Given the description of an element on the screen output the (x, y) to click on. 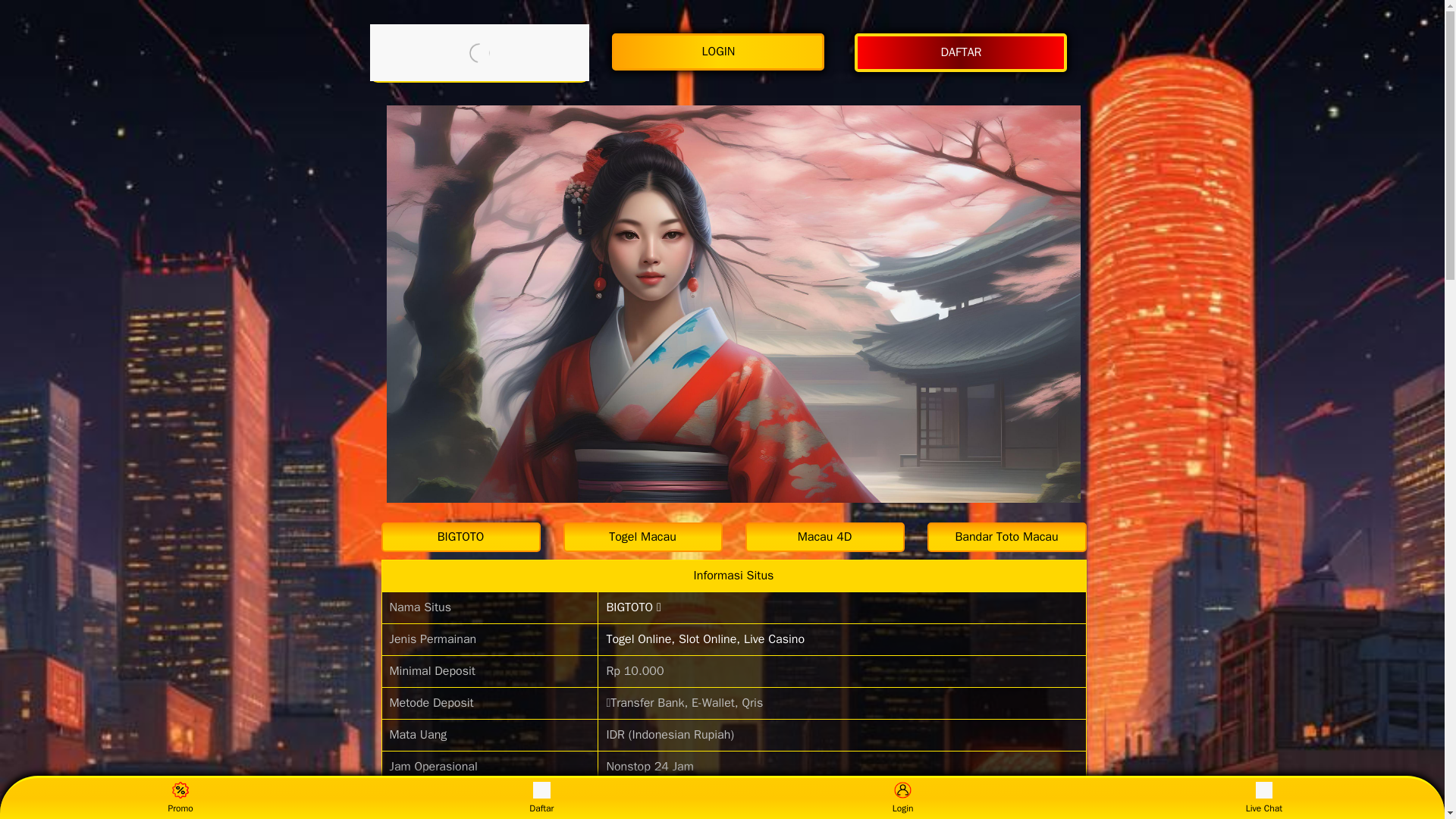
DAFTAR (964, 52)
Bandar Toto Macau (1006, 537)
Togel Macau (642, 537)
Live Chat (1263, 797)
LOGIN (721, 51)
Togel Online, Slot Online, Live Casino (705, 639)
BIGTOTO (460, 537)
Macau 4D (824, 537)
Macau 4D (824, 537)
Daftar (541, 797)
BIGTOTO (460, 537)
Togel Macau (642, 537)
Promo (180, 797)
BIGTOTO (479, 52)
Login (903, 797)
